Given the description of an element on the screen output the (x, y) to click on. 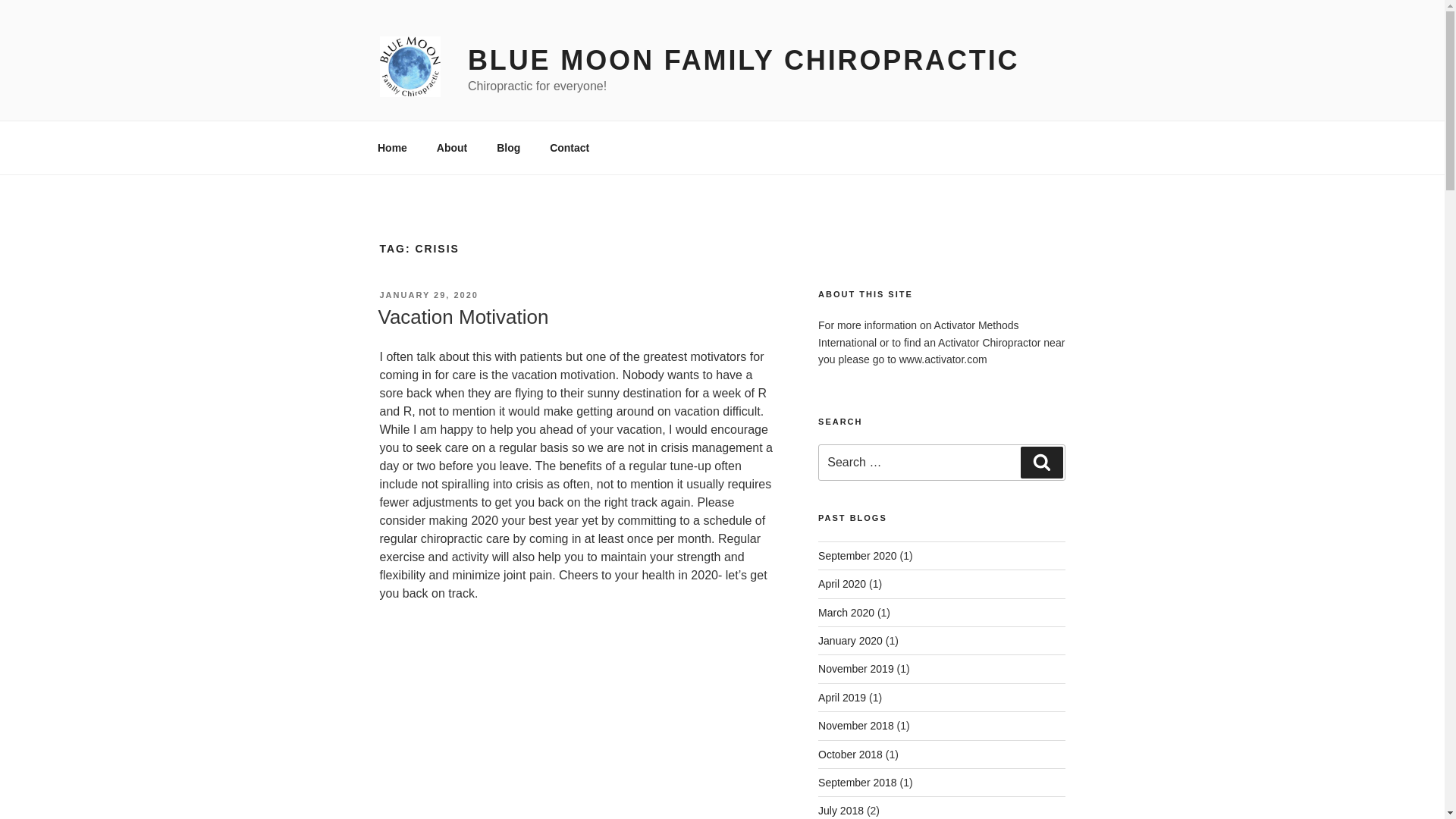
September 2020 (857, 555)
October 2018 (850, 754)
January 2020 (850, 640)
Vacation Motivation (462, 316)
September 2018 (857, 782)
Contact (569, 147)
Blog (508, 147)
April 2019 (842, 697)
BLUE MOON FAMILY CHIROPRACTIC (743, 60)
July 2018 (840, 810)
November 2018 (855, 725)
Home (392, 147)
November 2019 (855, 668)
About (451, 147)
April 2020 (842, 583)
